Given the description of an element on the screen output the (x, y) to click on. 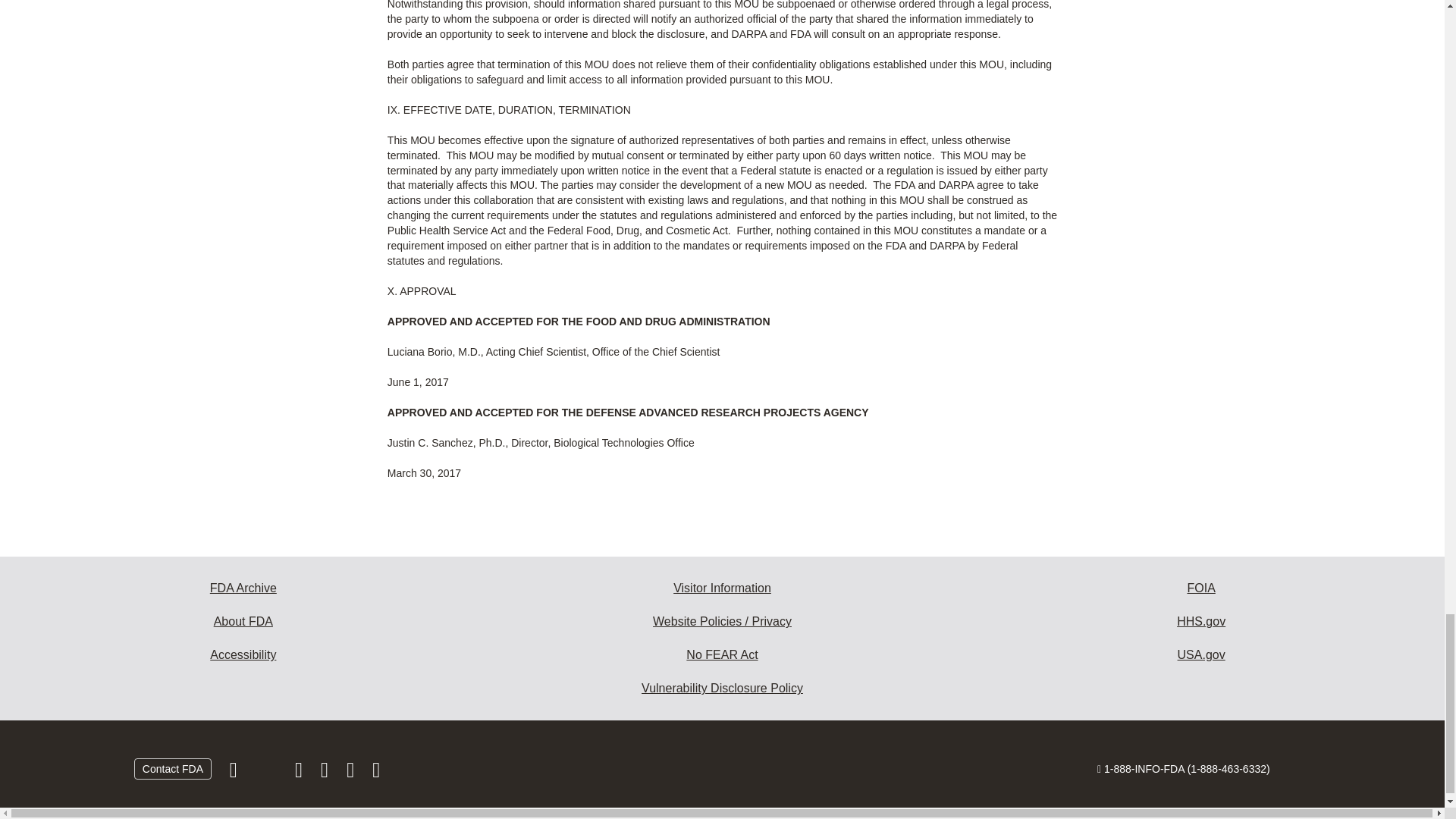
View FDA videos on YouTube (352, 773)
Follow FDA on X (266, 773)
Subscribe to FDA RSS feeds (376, 773)
Freedom of Information Act (1200, 588)
Follow FDA on Instagram (299, 773)
Follow FDA on LinkedIn (326, 773)
Health and Human Services (1200, 621)
Follow FDA on Facebook (234, 773)
